Given the description of an element on the screen output the (x, y) to click on. 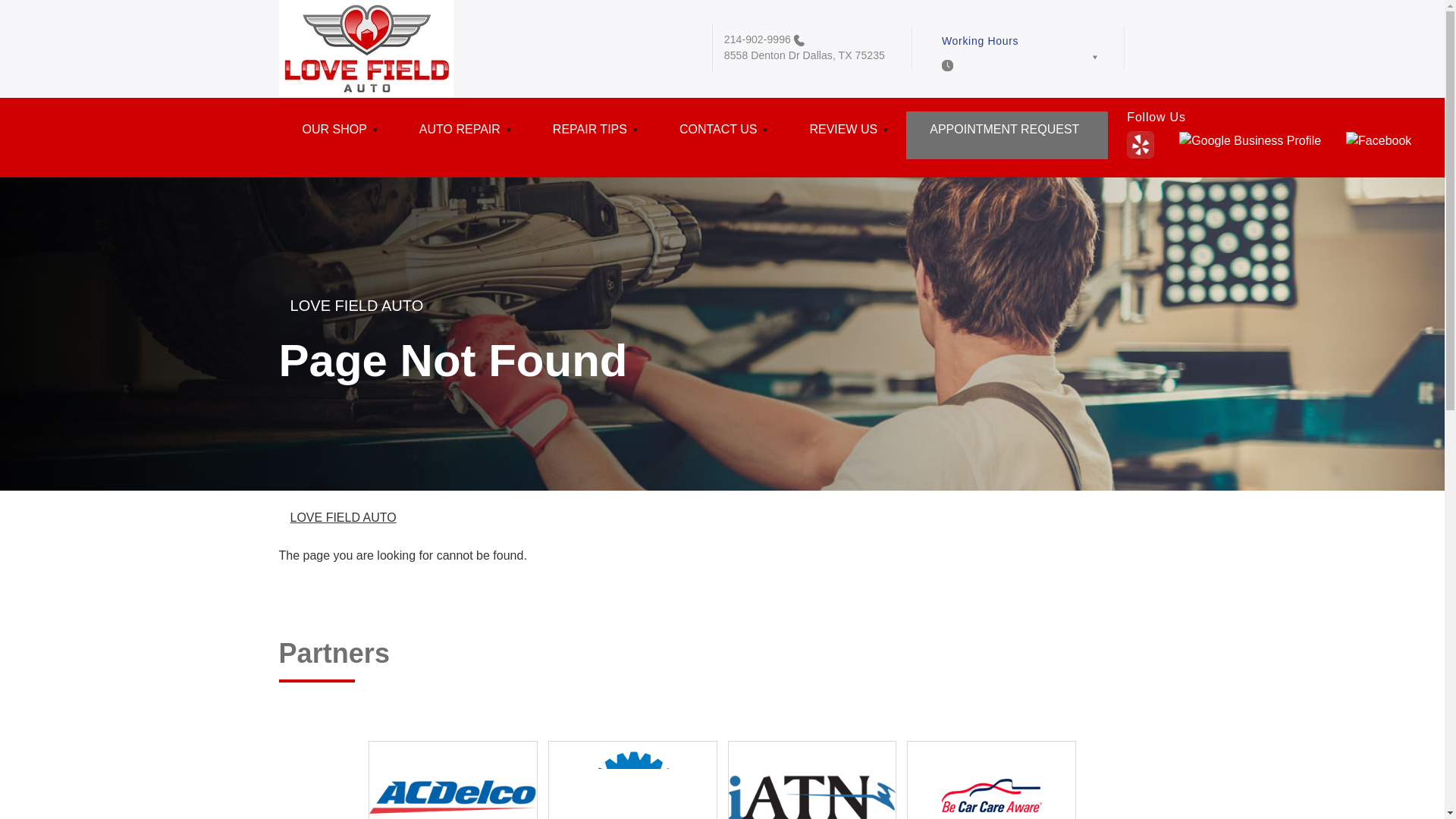
AUTO REPAIR (462, 134)
REPAIR TIPS (592, 134)
OUR SHOP (337, 134)
214-902-9996 (756, 39)
REVIEW US (845, 134)
APPOINTMENT REQUEST (1006, 134)
CONTACT US (721, 134)
